Given the description of an element on the screen output the (x, y) to click on. 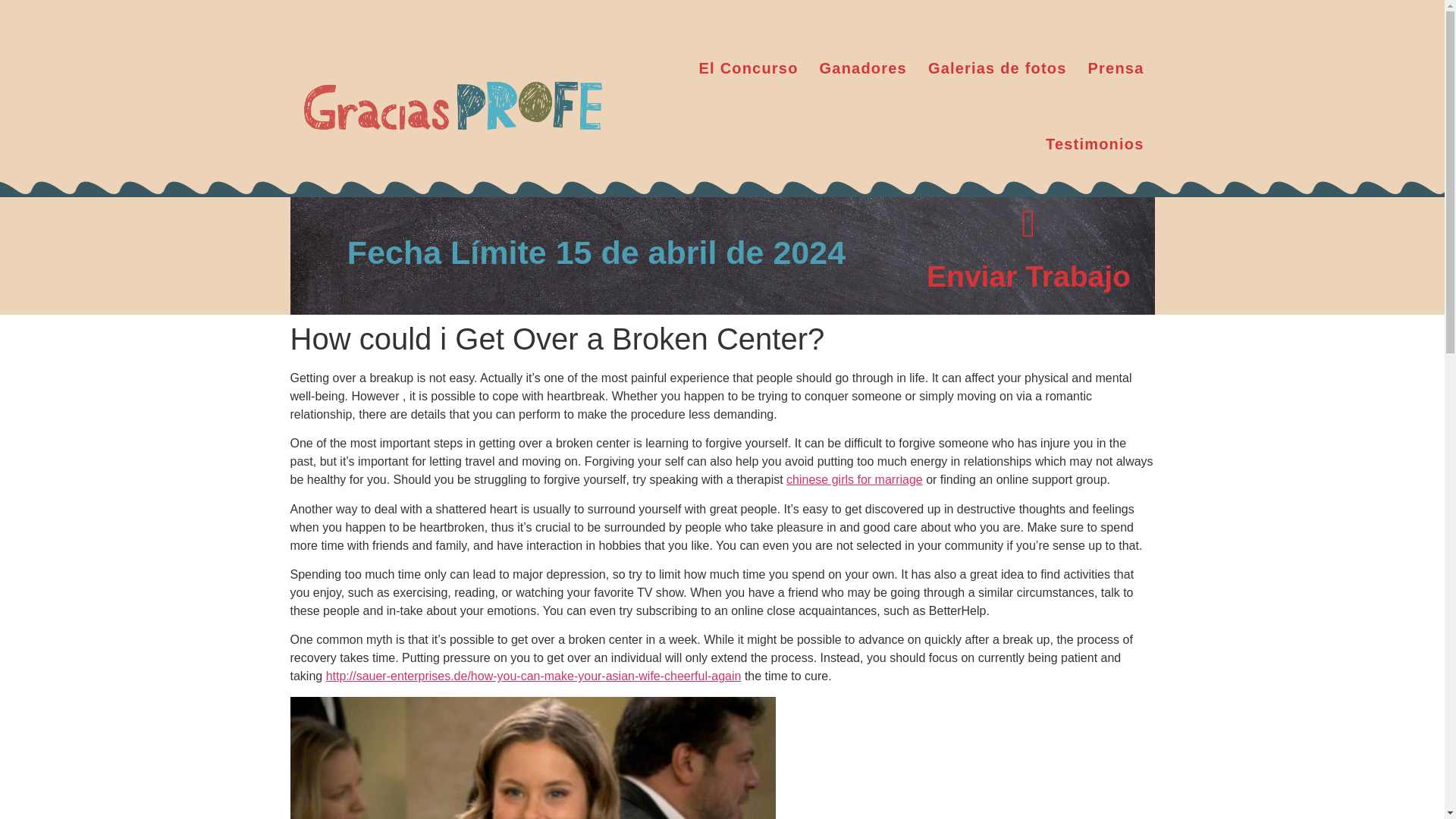
El Concurso (748, 68)
Ganadores (863, 68)
Testimonios (1094, 143)
Enviar Trabajo (1028, 276)
chinese girls for marriage (854, 479)
Prensa (1115, 68)
Galerias de fotos (997, 68)
